Given the description of an element on the screen output the (x, y) to click on. 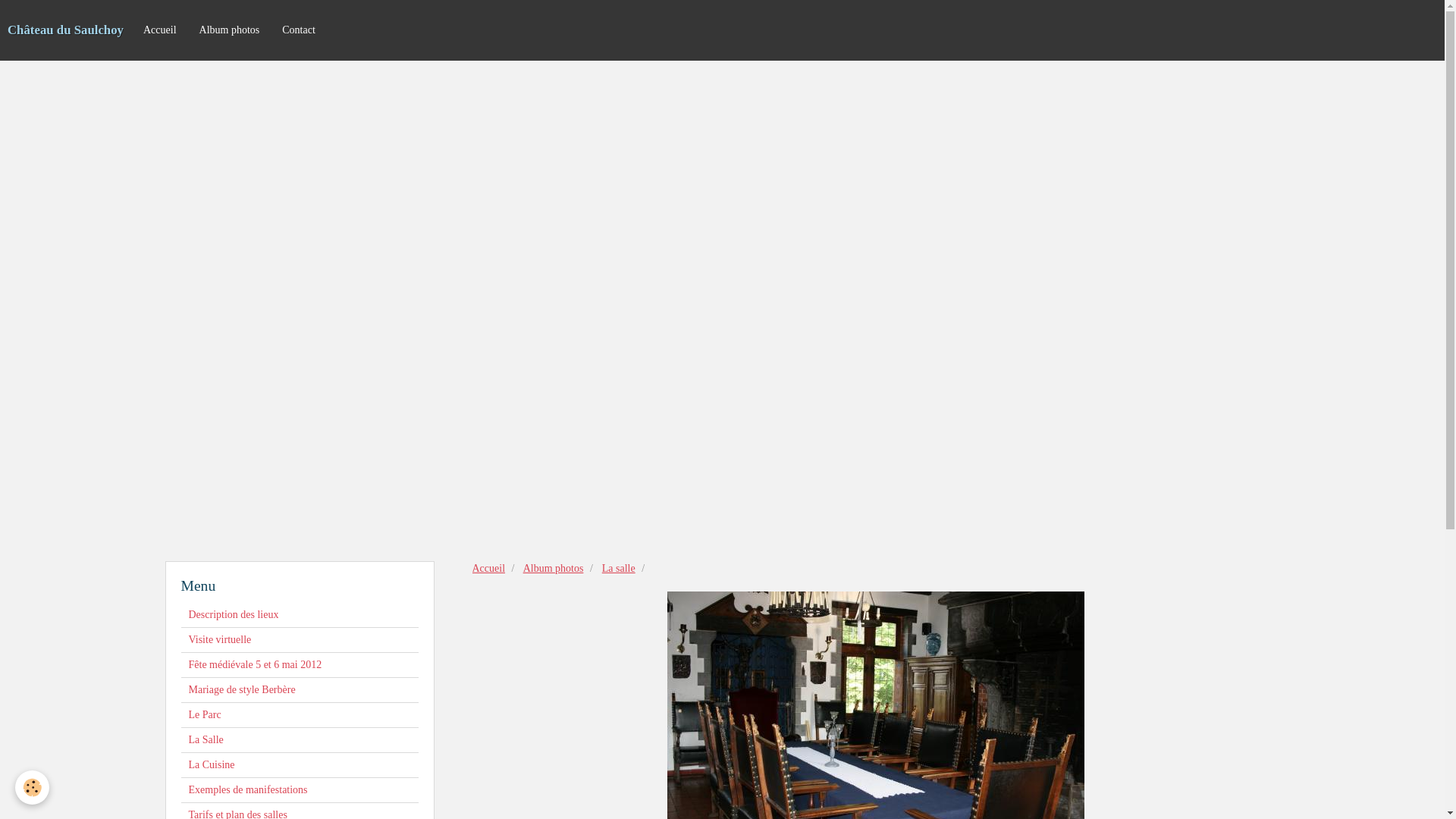
Album photos Element type: text (553, 568)
Description des lieux Element type: text (298, 614)
Exemples de manifestations Element type: text (298, 790)
Contact Element type: text (298, 30)
Accueil Element type: text (159, 30)
Accueil Element type: text (488, 568)
Le Parc Element type: text (298, 714)
La Salle Element type: text (298, 740)
Album photos Element type: text (229, 30)
La Cuisine Element type: text (298, 765)
Visite virtuelle Element type: text (298, 639)
La salle Element type: text (618, 568)
